Given the description of an element on the screen output the (x, y) to click on. 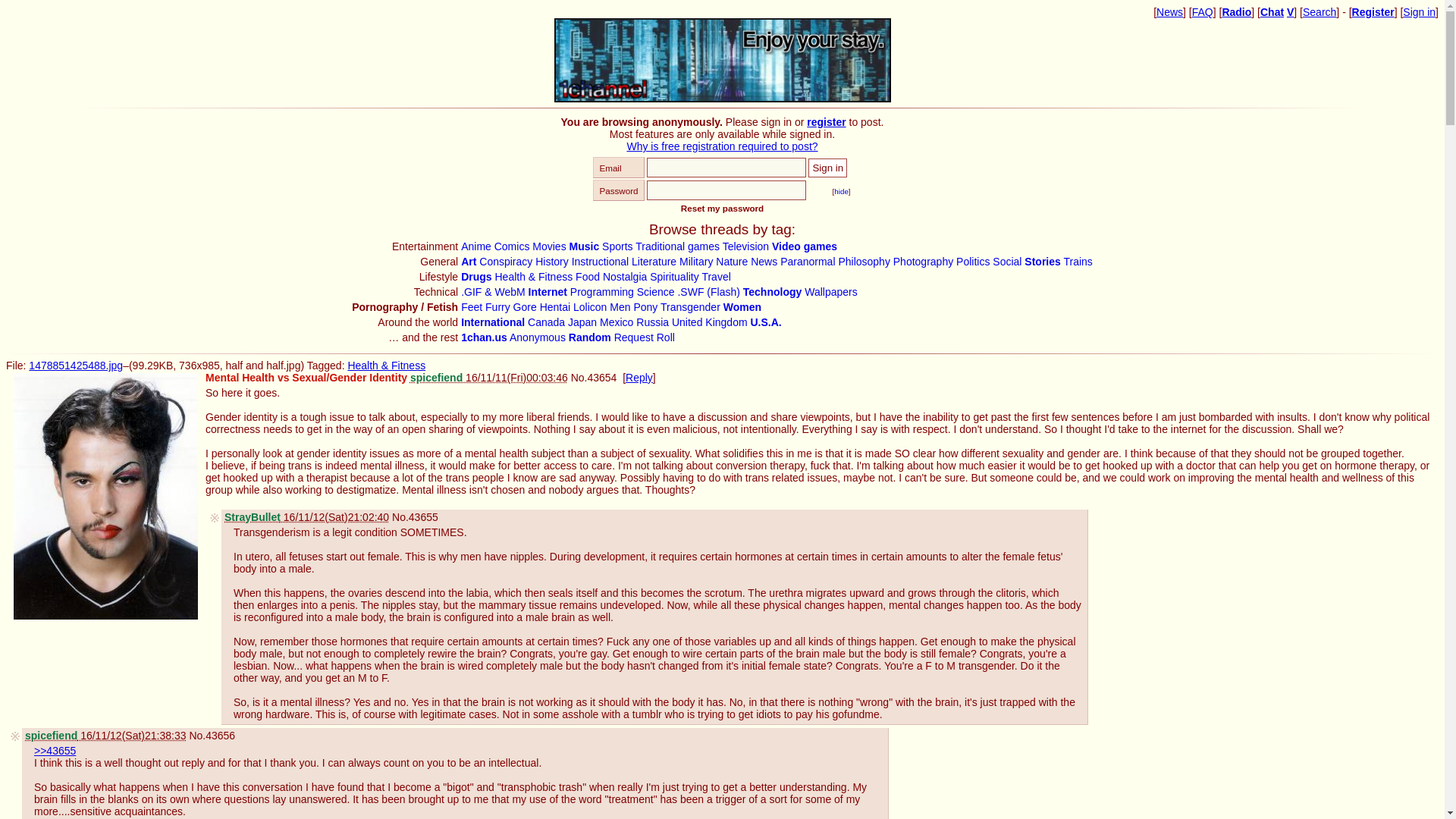
Stories (1042, 261)
Conspiracy (505, 261)
Politics (973, 261)
Instructional (600, 261)
Art (468, 261)
News (1169, 11)
Literature (654, 261)
History (552, 261)
Military (696, 261)
Registered 10 years, 7 months, 24 days ago (105, 735)
Chat (1272, 11)
Traditional games (676, 246)
Registered 10 years, 7 months, 24 days ago (488, 377)
Social (1007, 261)
Registered 10 years, 7 months, 27 days ago (306, 517)
